Given the description of an element on the screen output the (x, y) to click on. 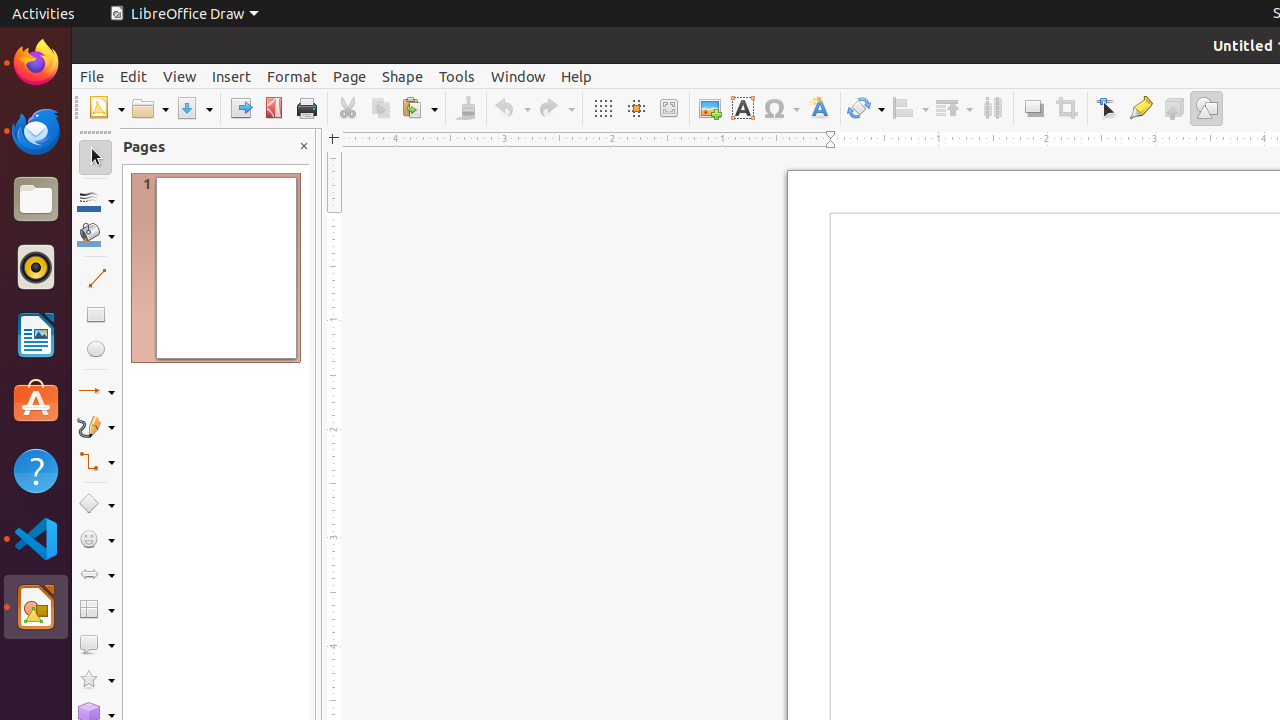
Curves and Polygons Element type: push-button (96, 426)
Fontwork Style Element type: toggle-button (819, 108)
Line Color Element type: push-button (96, 200)
Shape Element type: menu (402, 76)
Copy Element type: push-button (380, 108)
